Given the description of an element on the screen output the (x, y) to click on. 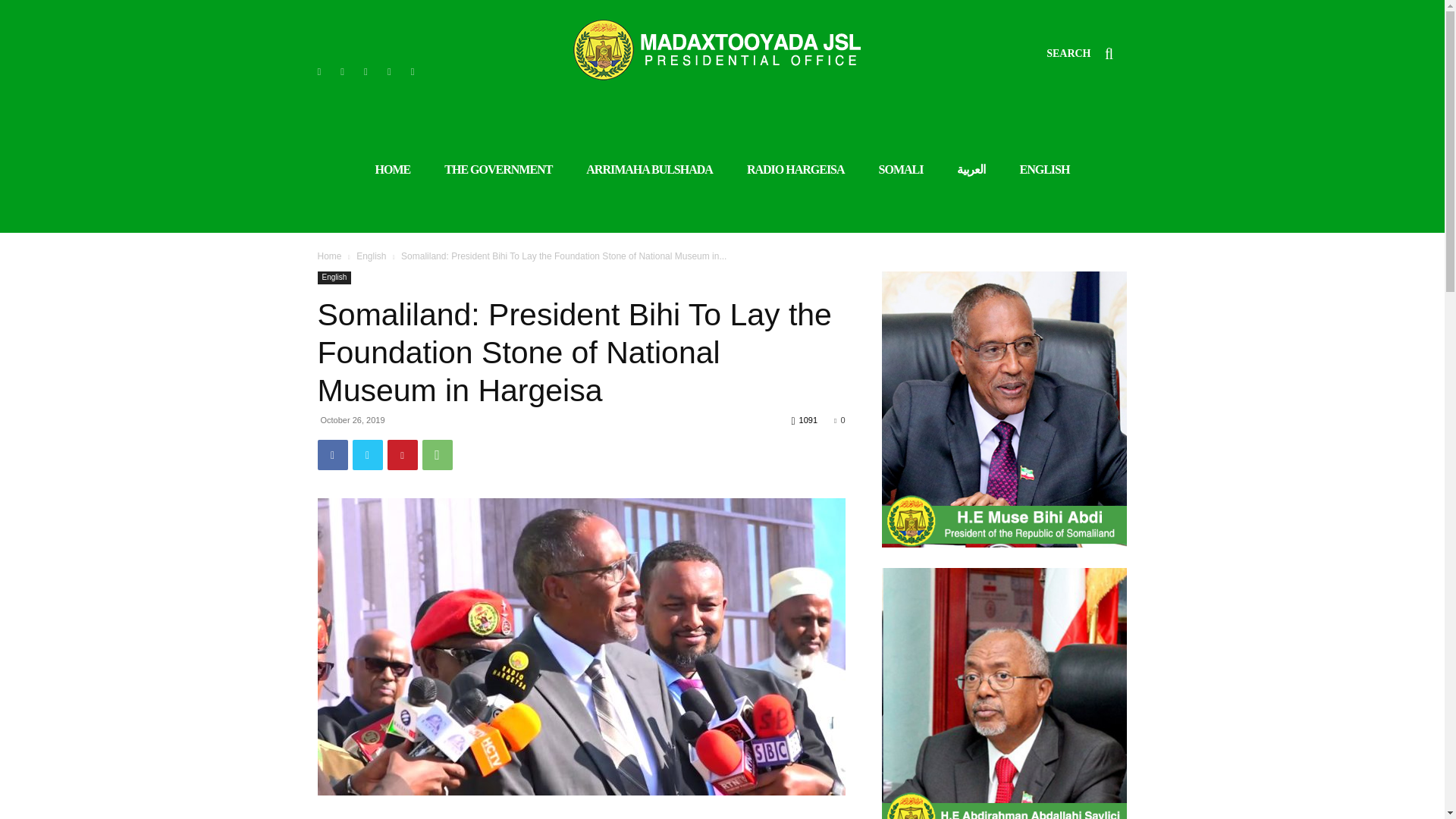
0 (839, 420)
WhatsApp (436, 454)
View all posts in English (370, 255)
Twitter (366, 454)
RADIO HARGEISA (795, 169)
Youtube (412, 72)
Facebook (332, 454)
SEARCH (1086, 54)
English (333, 277)
THE GOVERNMENT (497, 169)
TikTok (366, 72)
Home (328, 255)
English (370, 255)
Twitter (389, 72)
